Given the description of an element on the screen output the (x, y) to click on. 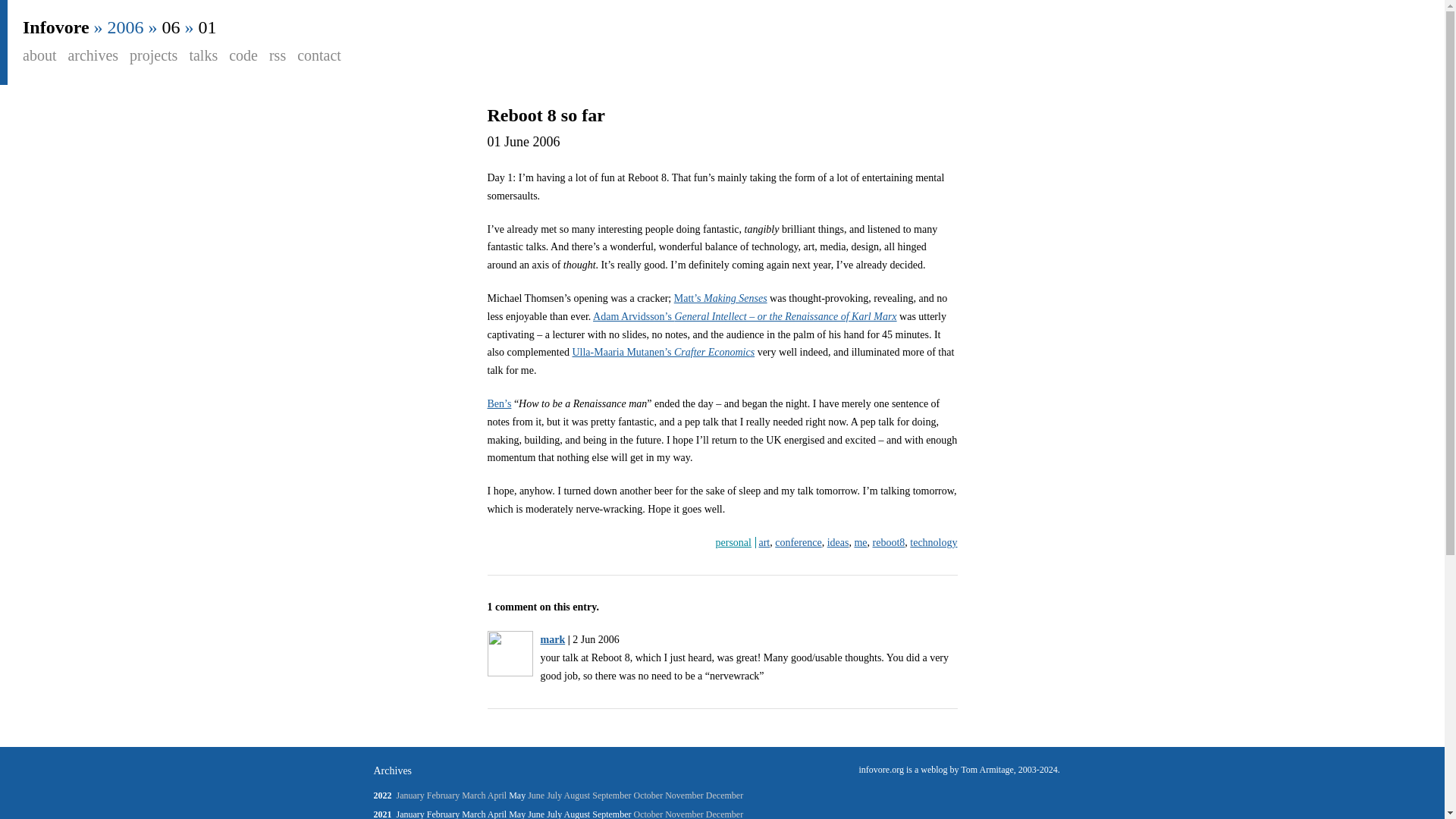
May (516, 814)
April 2021 (496, 814)
reboot8 (888, 542)
archives (91, 54)
06 (170, 26)
March (472, 814)
June (535, 814)
January (409, 814)
talks (202, 54)
01 (207, 26)
